Given the description of an element on the screen output the (x, y) to click on. 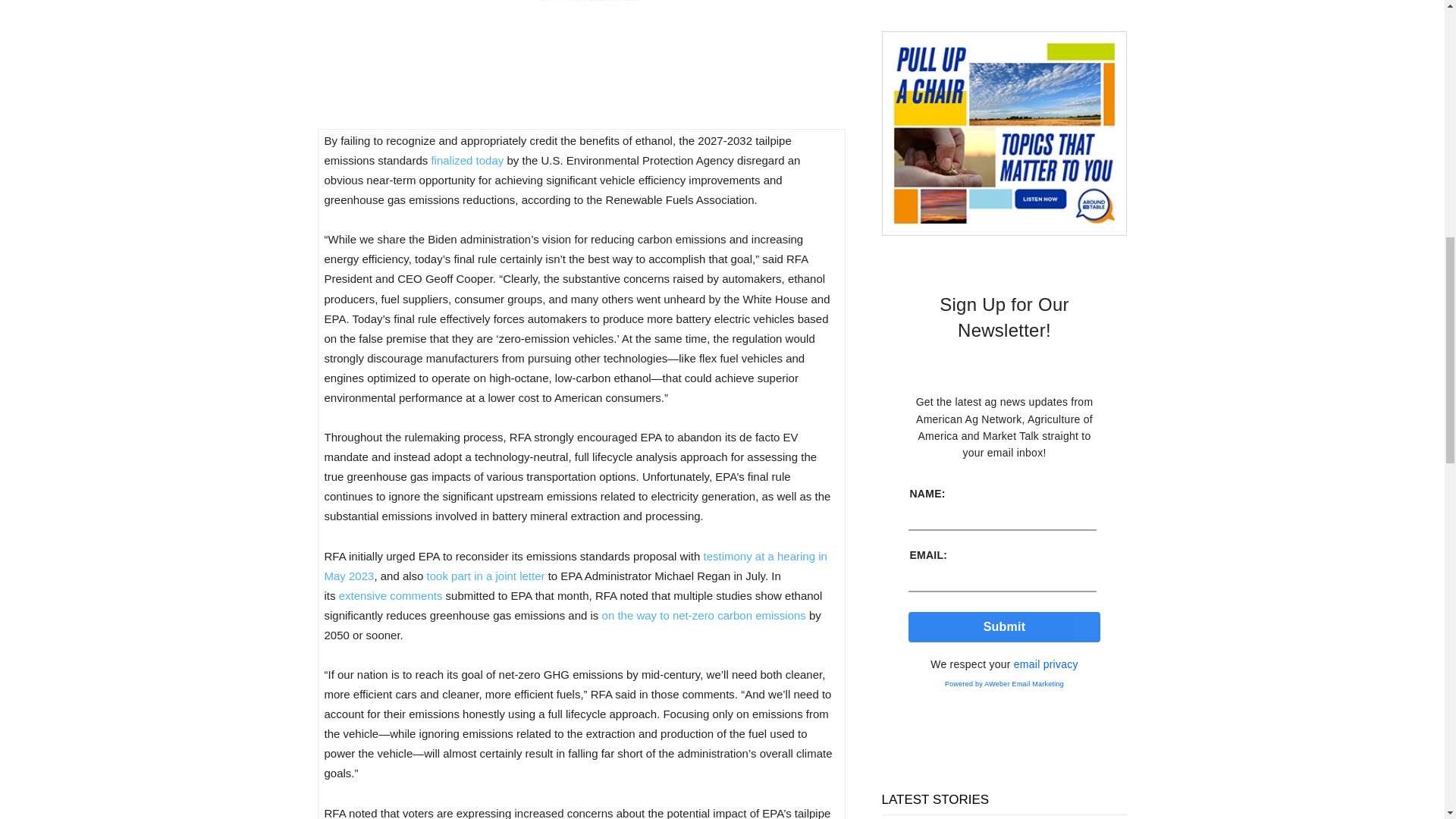
RFA Renewable Fuels Association (580, 46)
Submit (1004, 626)
